Given the description of an element on the screen output the (x, y) to click on. 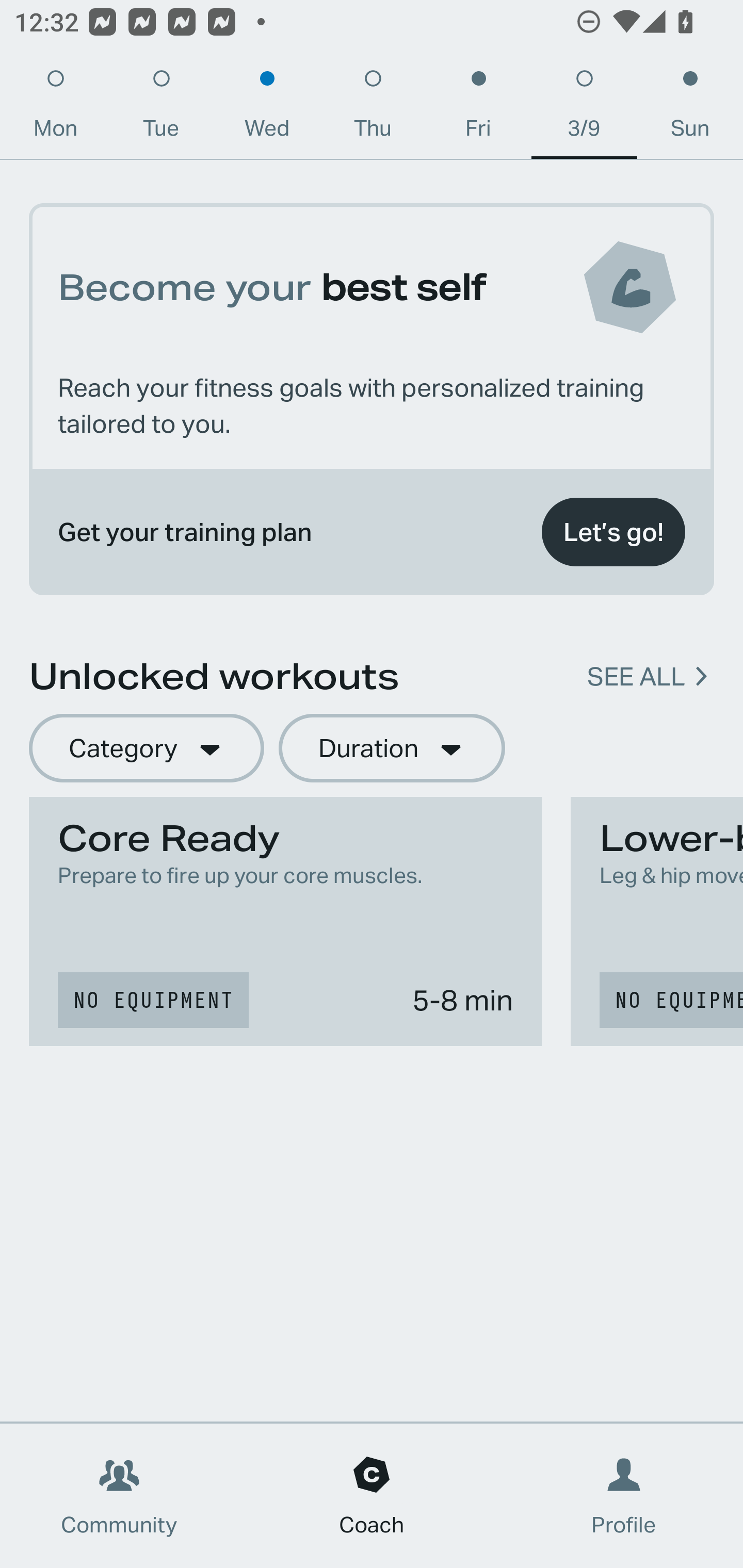
Mon (55, 108)
Tue (160, 108)
Wed (266, 108)
Thu (372, 108)
Fri (478, 108)
3/9 (584, 108)
Sun (690, 108)
Let’s go! (613, 532)
SEE ALL (635, 676)
Category (146, 748)
Duration (391, 748)
Community (119, 1495)
Profile (624, 1495)
